Given the description of an element on the screen output the (x, y) to click on. 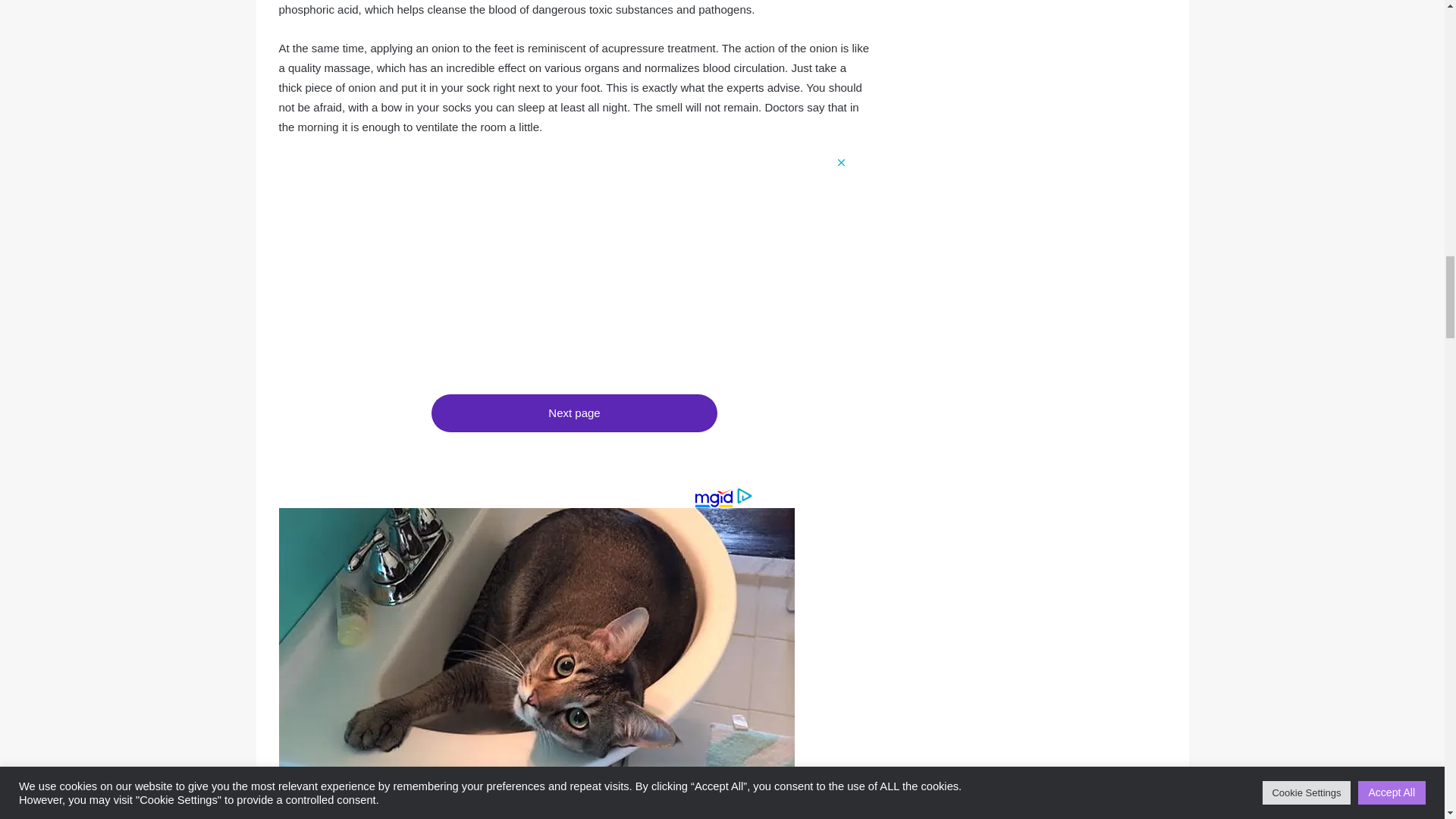
Next page (573, 412)
3rd party ad content (563, 270)
